Given the description of an element on the screen output the (x, y) to click on. 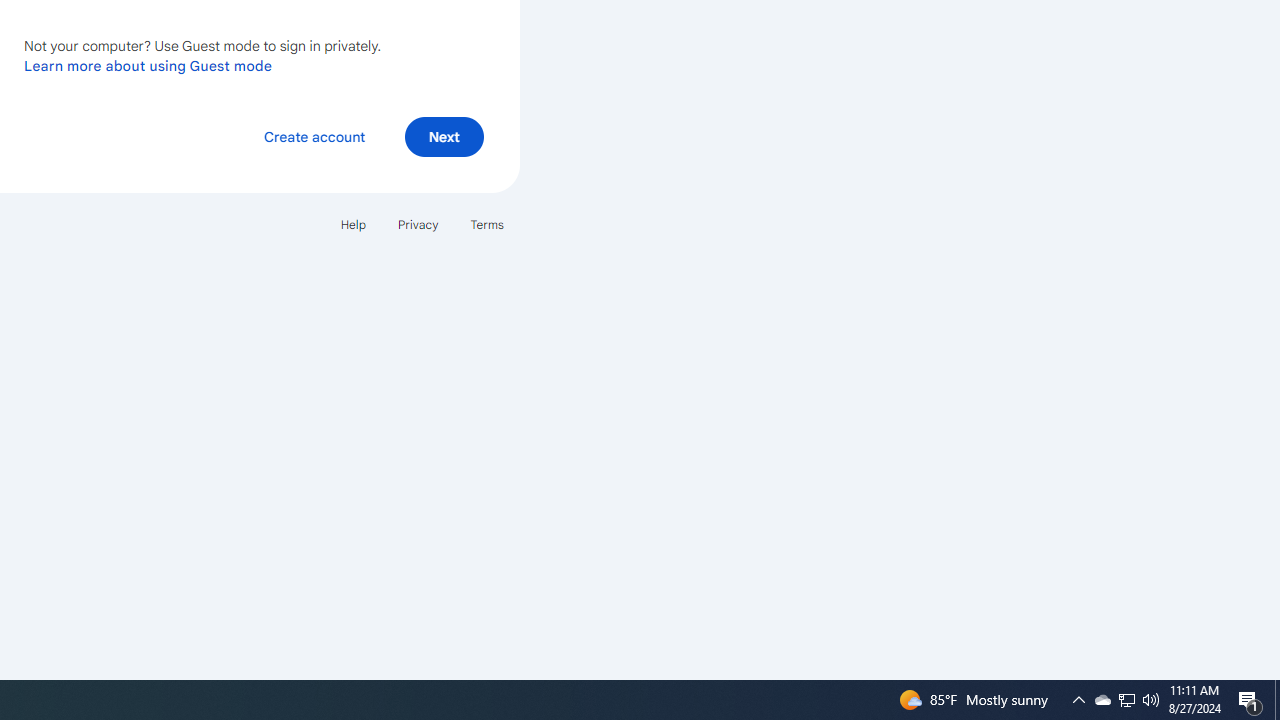
Create account (314, 135)
Learn more about using Guest mode (148, 65)
